Given the description of an element on the screen output the (x, y) to click on. 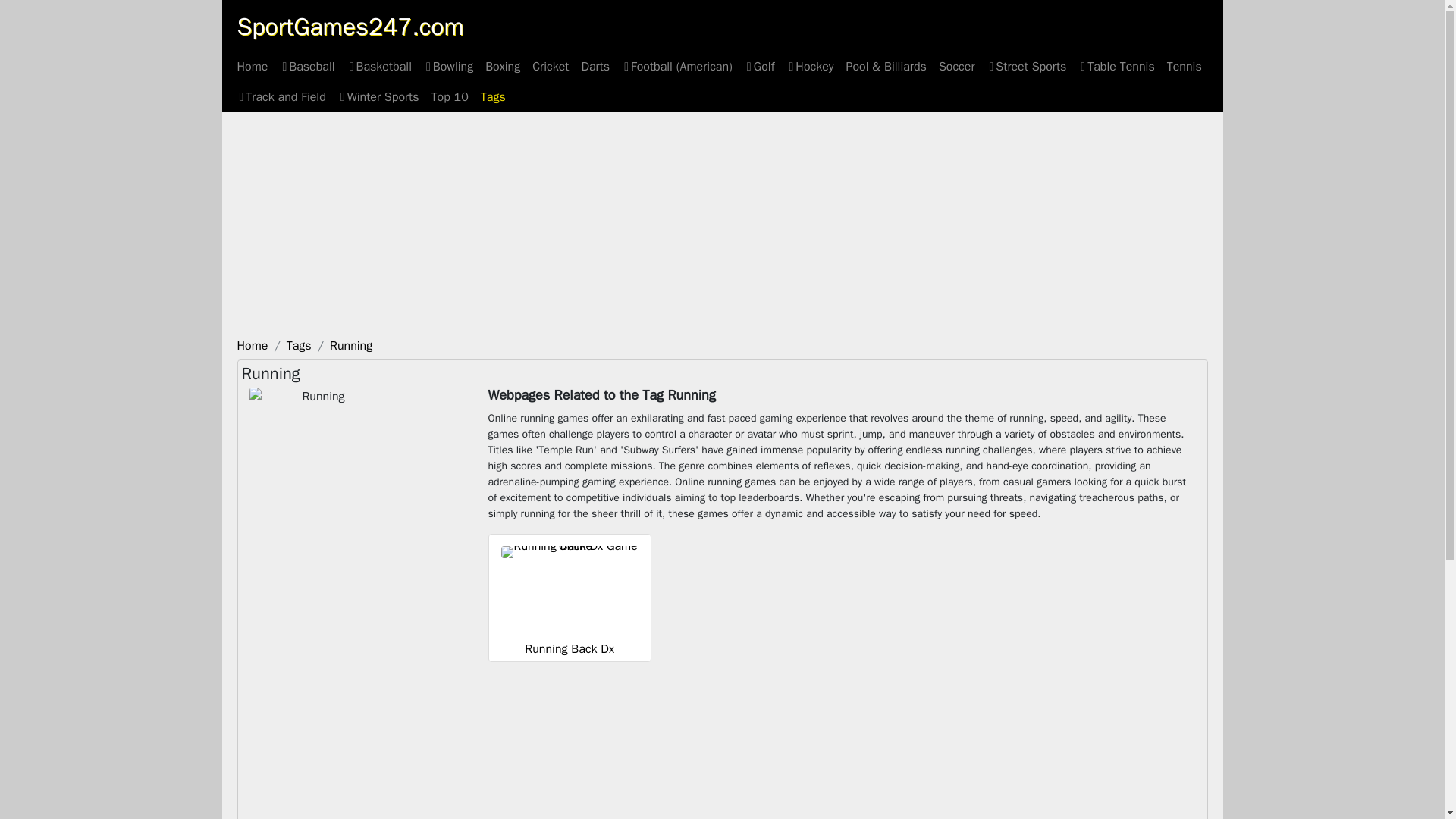
Table Tennis (1115, 66)
Darts (595, 66)
Home (251, 66)
Basketball (378, 66)
Top 10 (449, 96)
Tennis (1184, 66)
Running Tag Image (316, 438)
Hockey (810, 66)
Street Sports (1027, 66)
Baseball (306, 66)
Boxing (502, 66)
Play Running Back Dx (569, 648)
Home (251, 345)
Tags (298, 345)
SportGames247.com (349, 27)
